Given the description of an element on the screen output the (x, y) to click on. 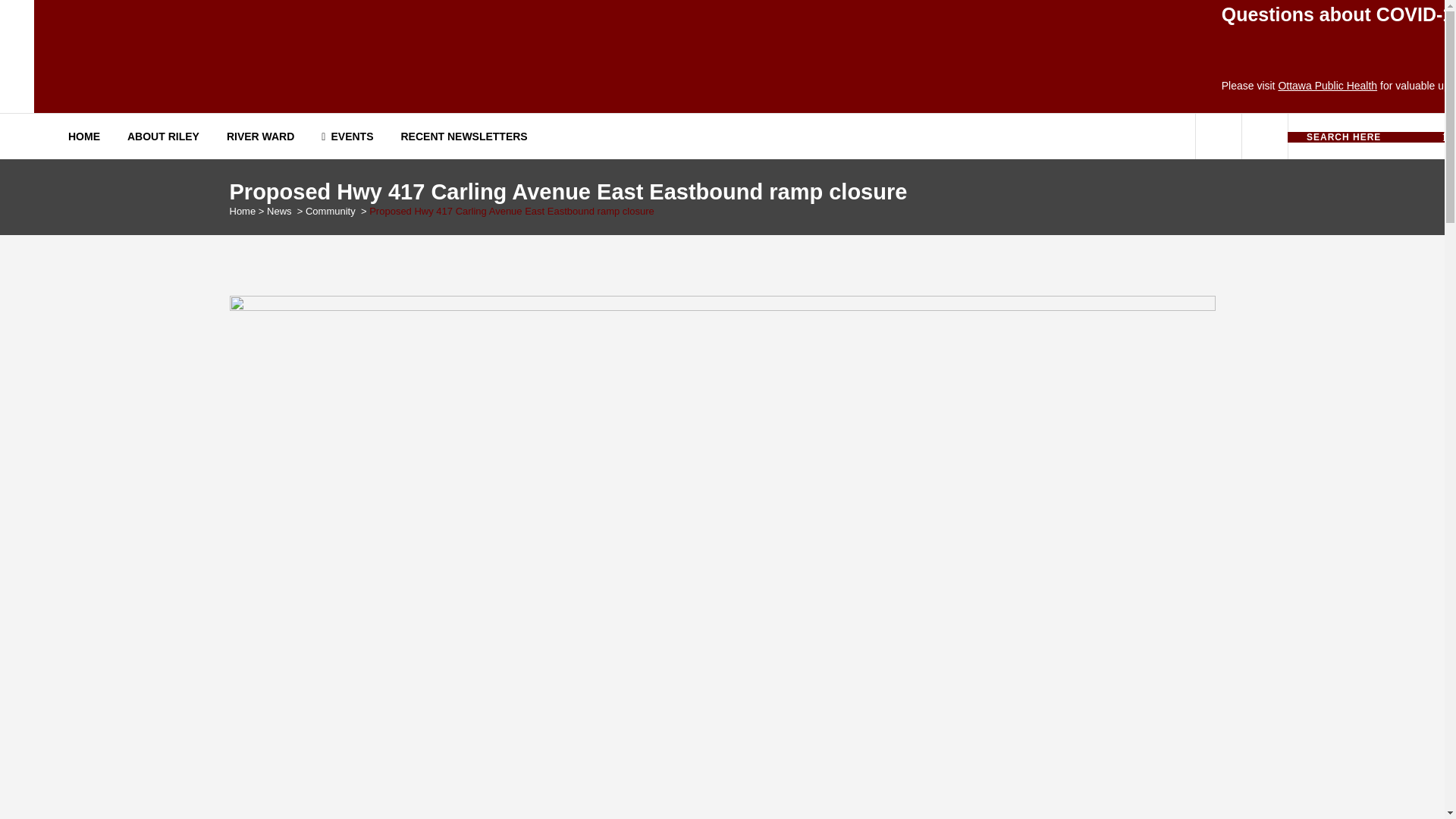
Ottawa Public Health (1329, 85)
RIVER WARD (259, 135)
Home (242, 211)
Community (330, 211)
ABOUT RILEY (162, 135)
EVENTS (347, 135)
HOME (90, 135)
RECENT NEWSLETTERS (463, 135)
News (279, 211)
